Given the description of an element on the screen output the (x, y) to click on. 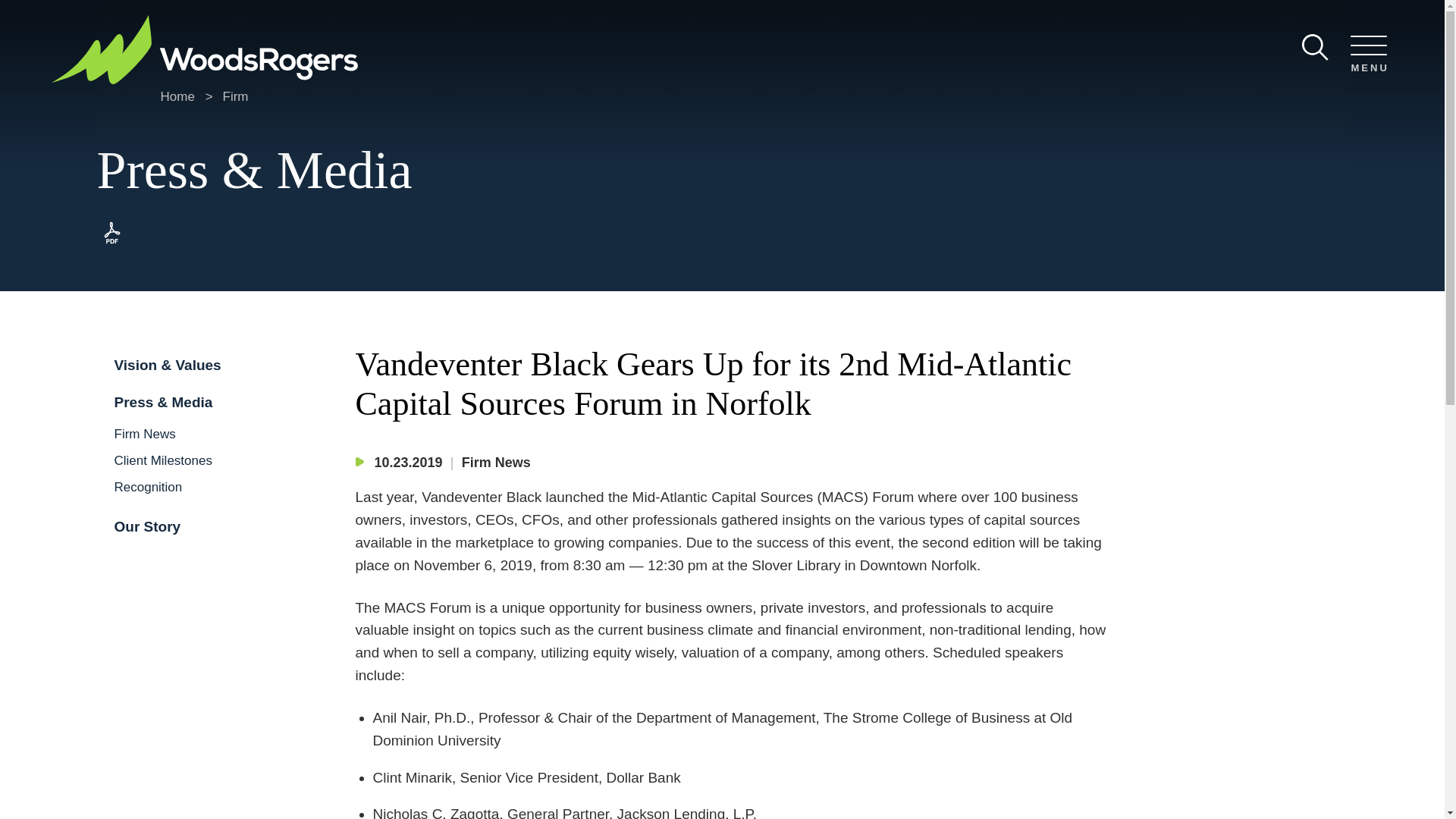
Firm News (143, 433)
PDF (112, 232)
PDF (112, 243)
Main Menu (680, 17)
Firm (235, 96)
Home (177, 96)
Menu (680, 17)
Main Content (674, 17)
Recognition (147, 486)
Menu (1367, 55)
